Given the description of an element on the screen output the (x, y) to click on. 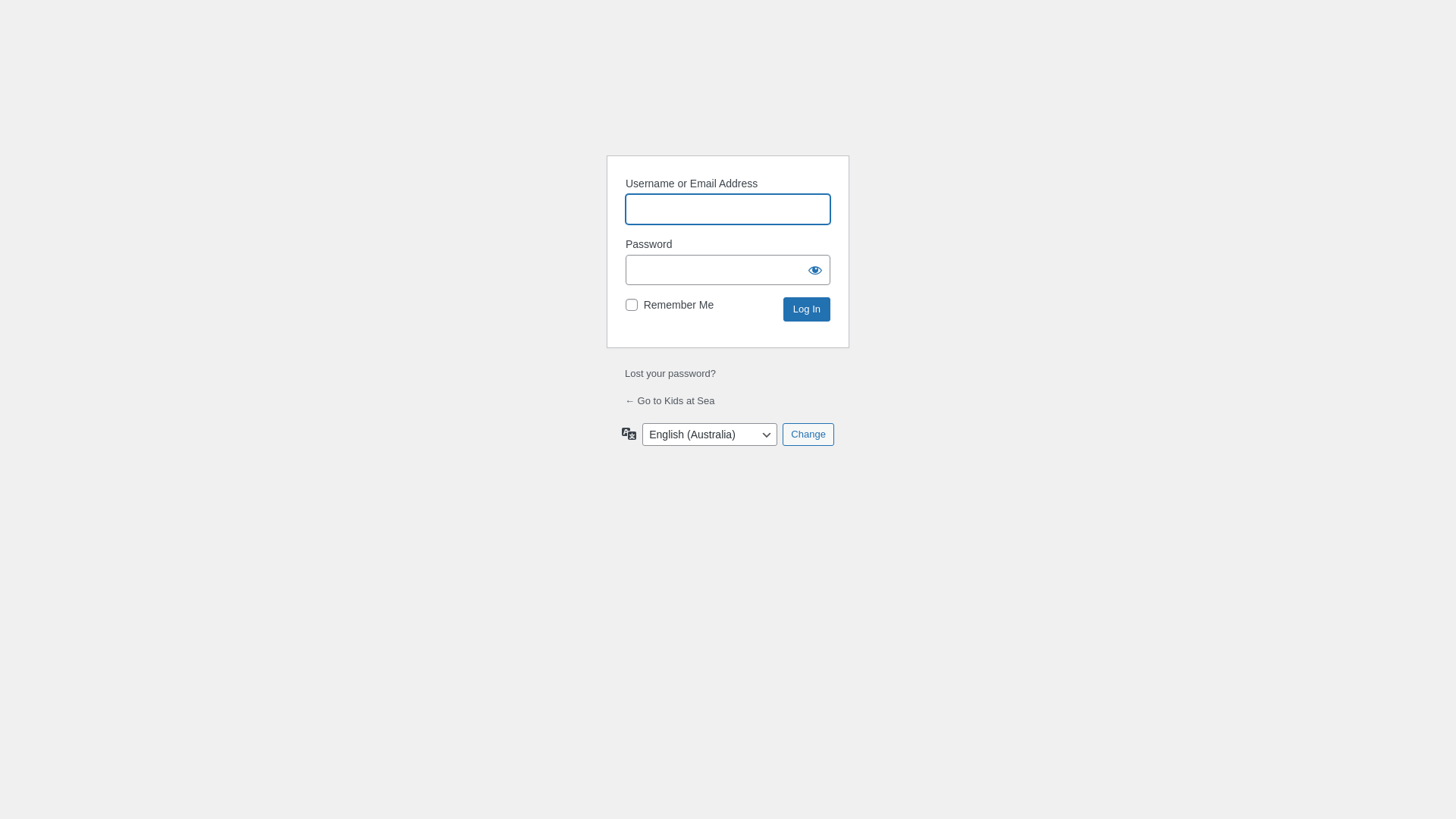
Powered by WordPress Element type: text (727, 104)
Log In Element type: text (806, 309)
Lost your password? Element type: text (669, 373)
Change Element type: text (808, 434)
